Given the description of an element on the screen output the (x, y) to click on. 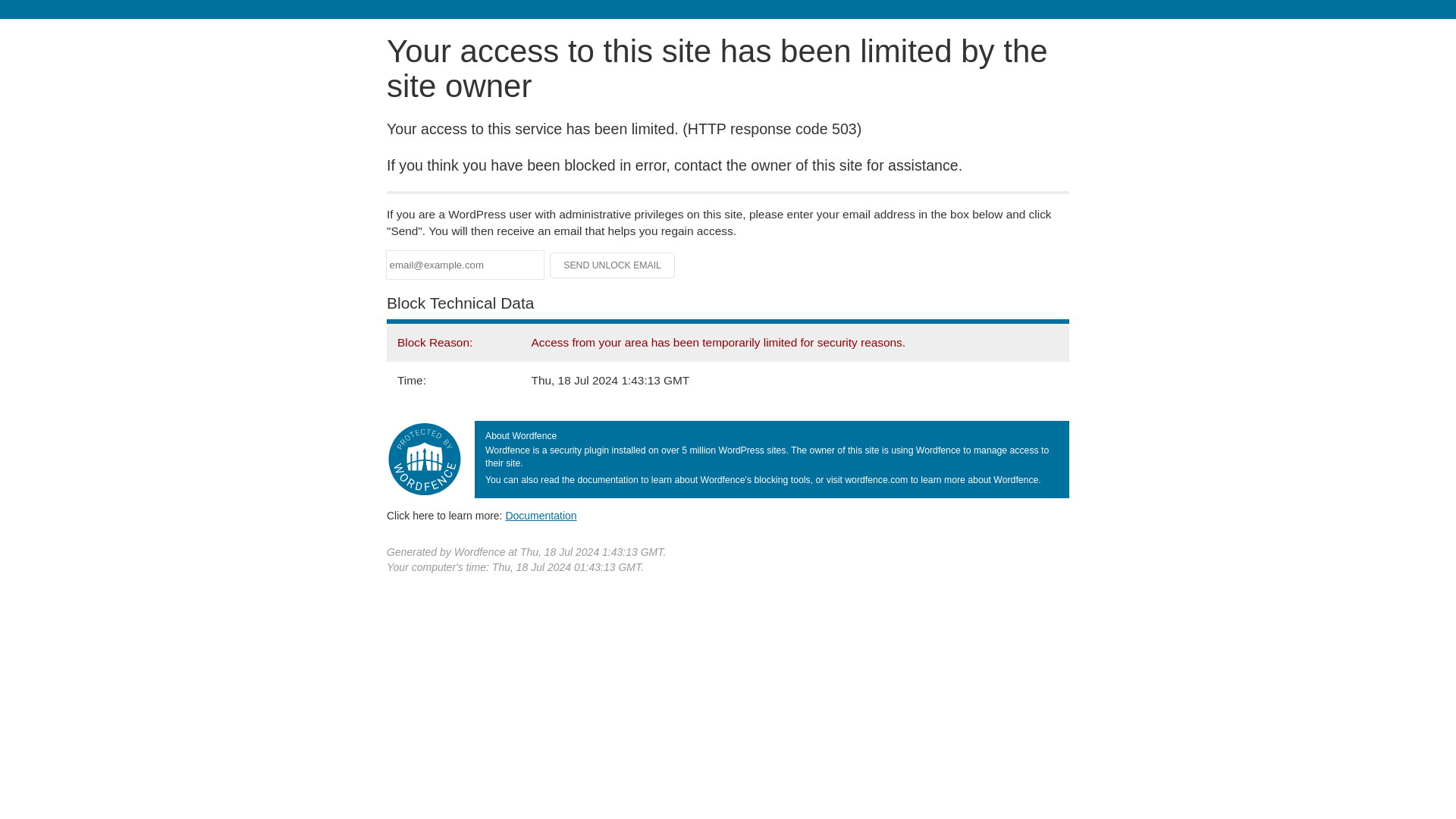
Send Unlock Email (612, 265)
Send Unlock Email (612, 265)
Documentation (540, 515)
